Given the description of an element on the screen output the (x, y) to click on. 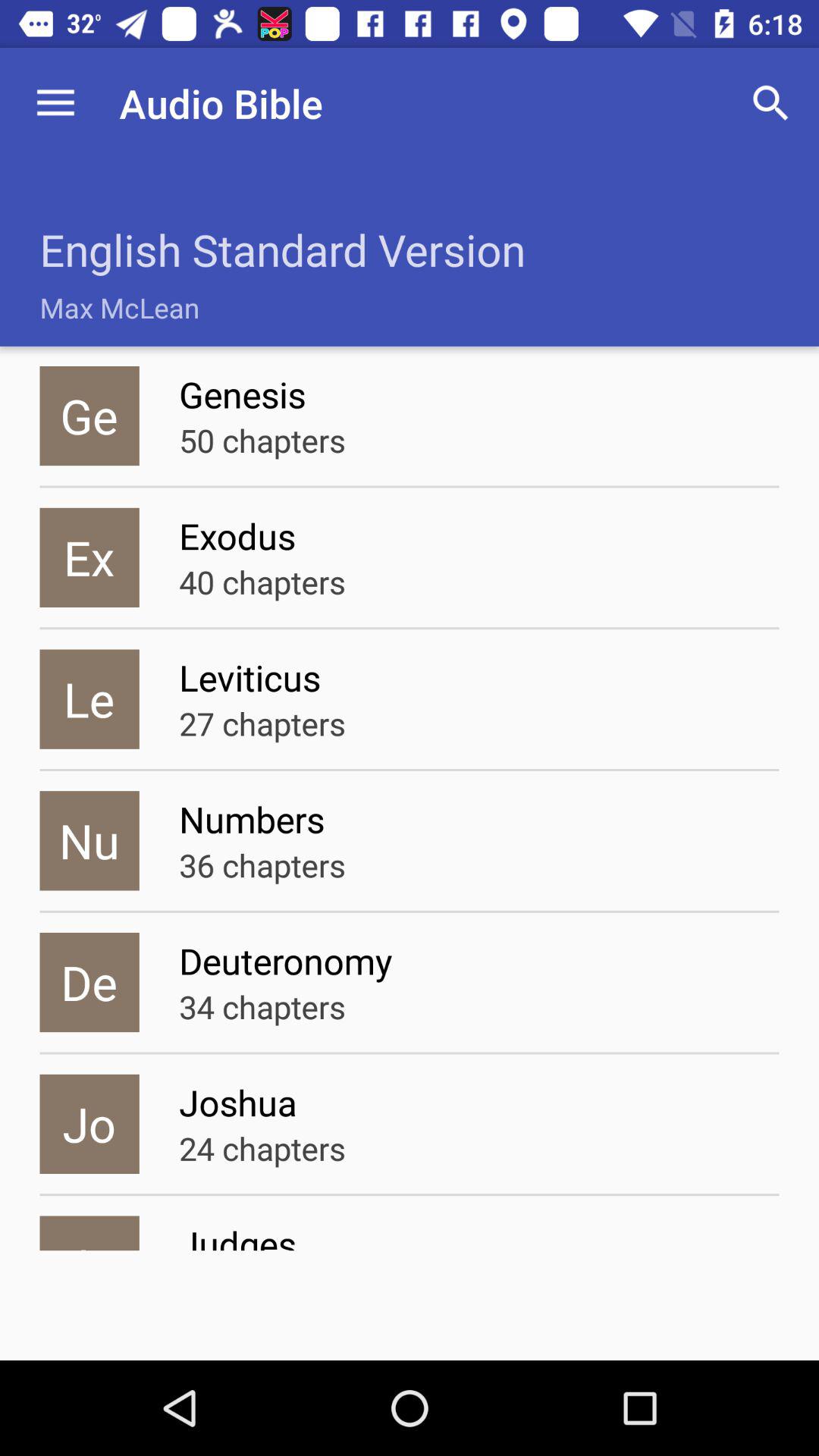
select icon to the right of the le icon (479, 677)
